Given the description of an element on the screen output the (x, y) to click on. 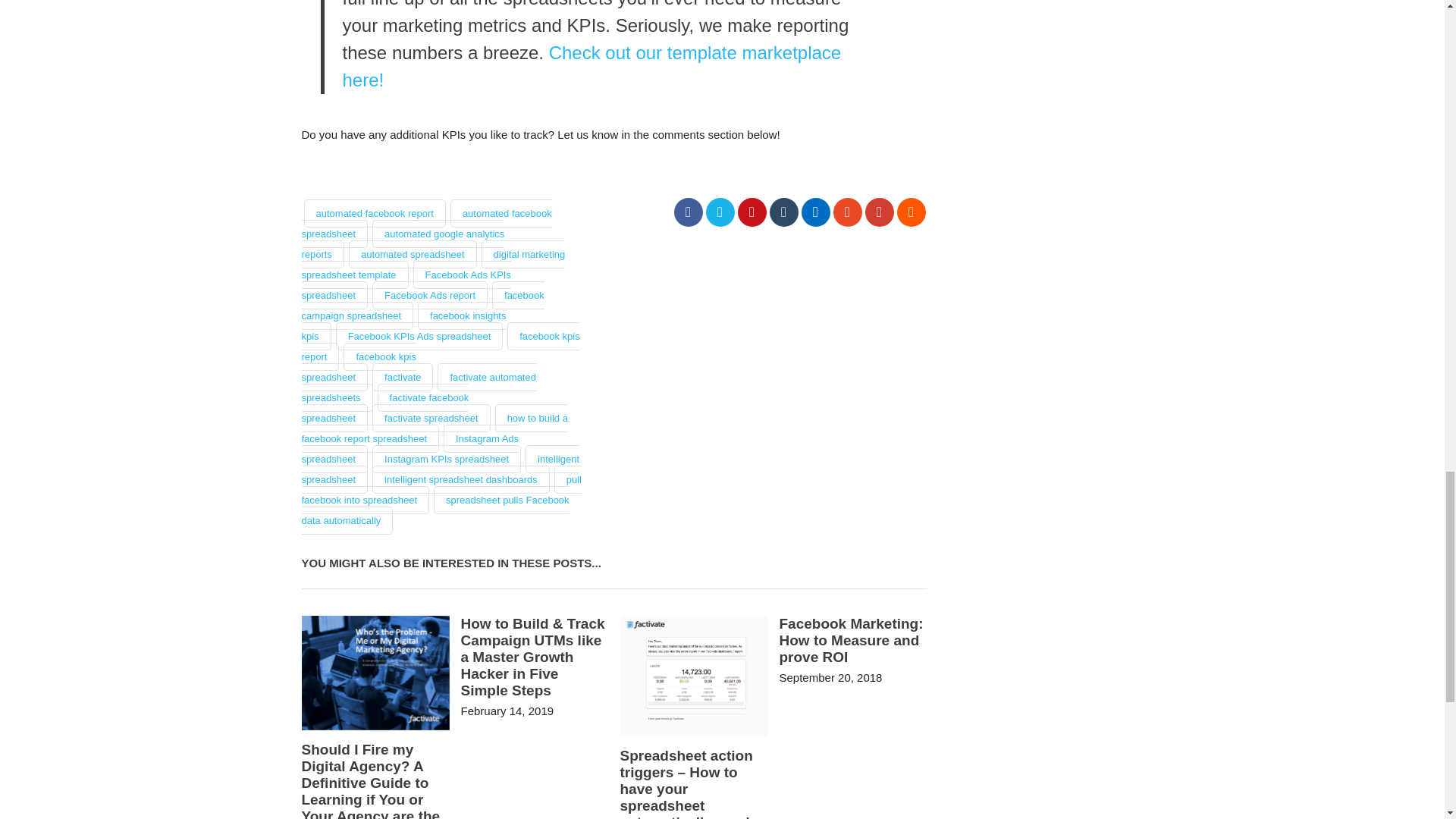
digital marketing spreadsheet template (433, 264)
Facebook Ads report (429, 295)
Facebook KPIs Ads spreadsheet (419, 336)
Check out our template marketplace here!  (591, 66)
facebook kpis report (440, 346)
facebook insights kpis (403, 326)
automated google analytics reports (403, 244)
automated spreadsheet (413, 254)
facebook campaign spreadsheet (422, 305)
automated facebook spreadsheet (426, 223)
automated facebook report (373, 213)
